Given the description of an element on the screen output the (x, y) to click on. 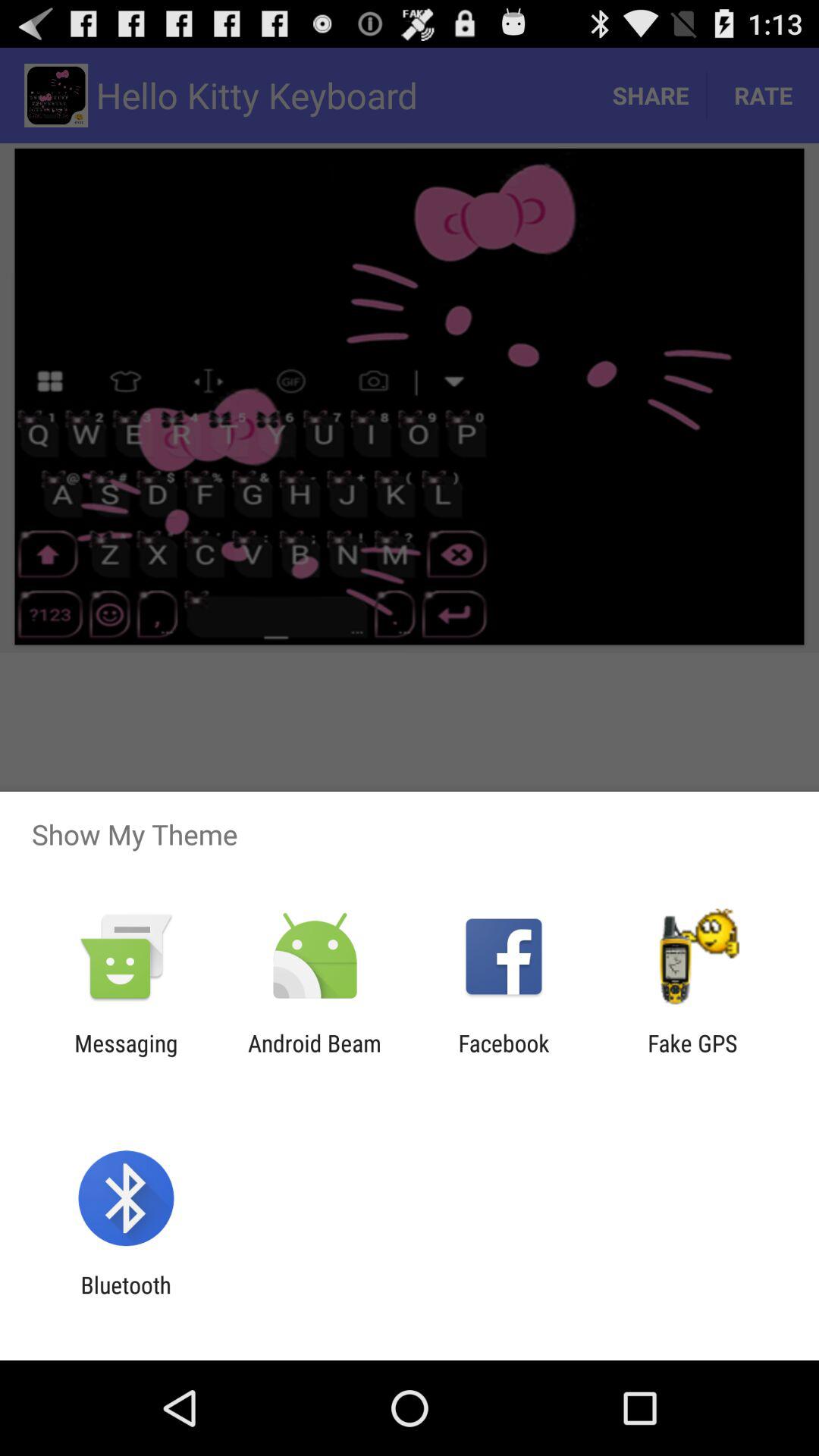
tap item to the right of the facebook item (692, 1056)
